Given the description of an element on the screen output the (x, y) to click on. 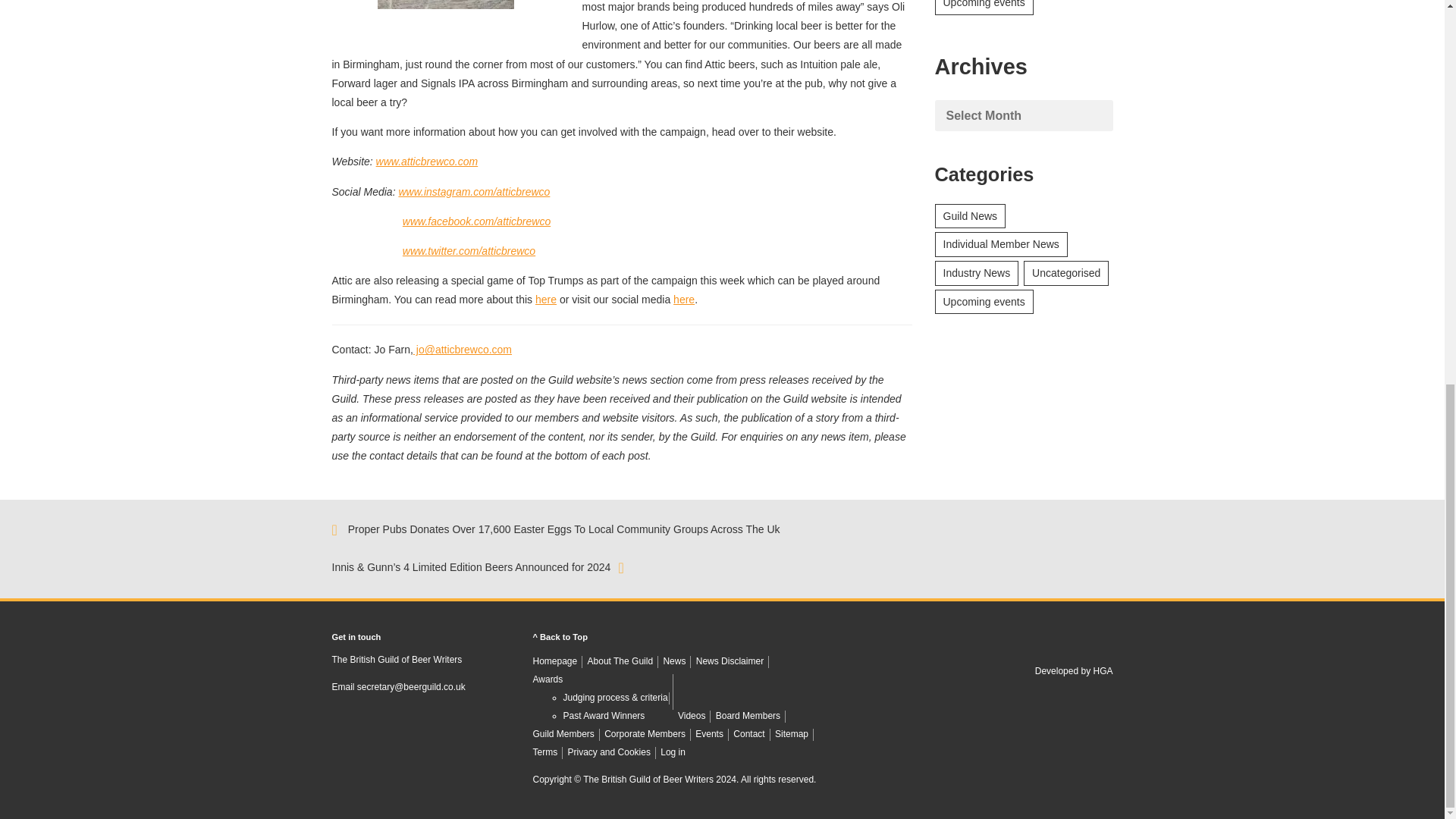
www.atticbrewco.com (427, 161)
